Given the description of an element on the screen output the (x, y) to click on. 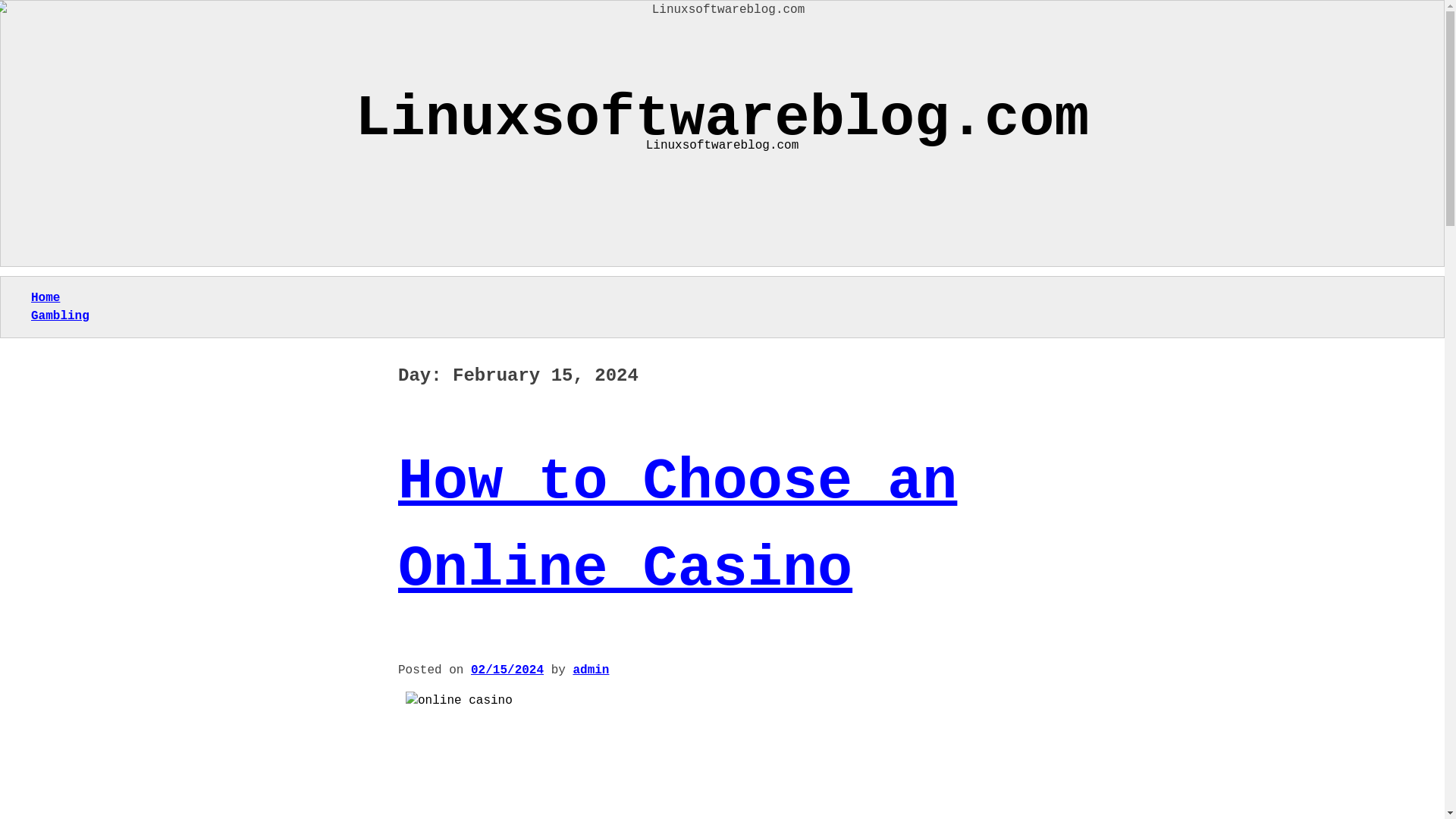
How to Choose an Online Casino (676, 524)
Linuxsoftwareblog.com (722, 119)
admin (590, 670)
Home (44, 297)
Gambling (59, 315)
